Given the description of an element on the screen output the (x, y) to click on. 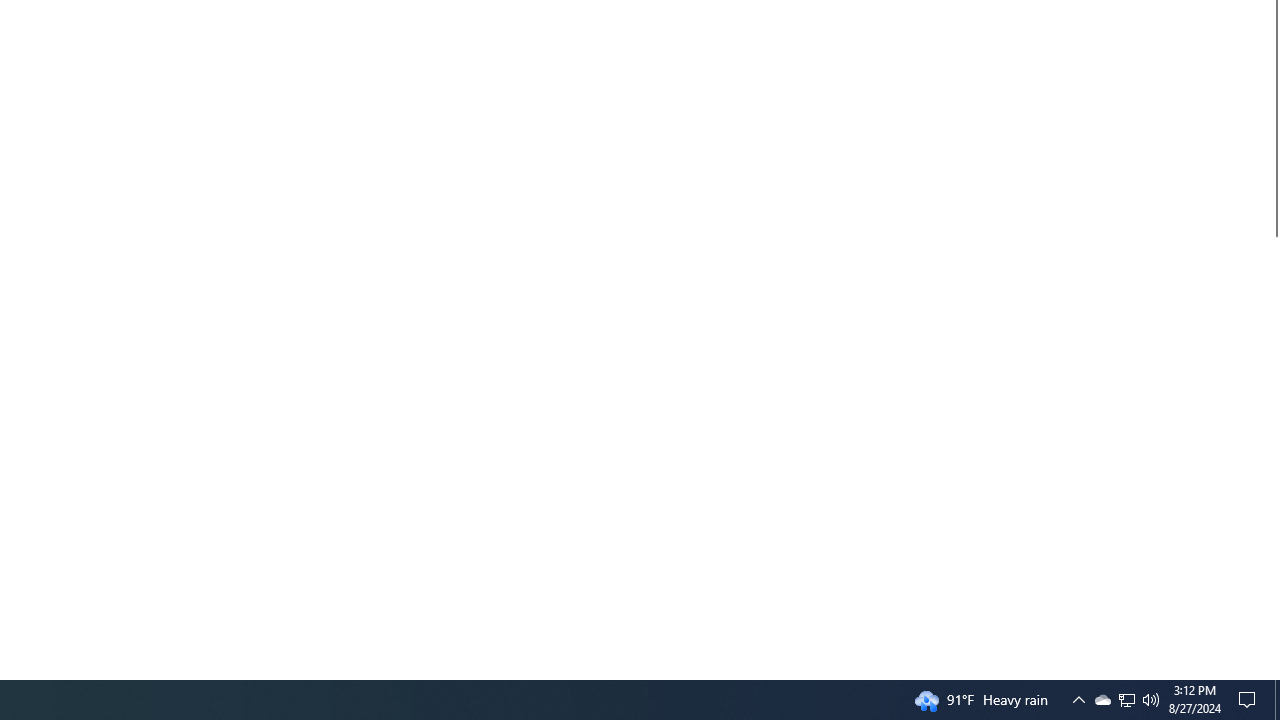
Vertical Large Increase (1272, 449)
Vertical Small Increase (1272, 671)
